Given the description of an element on the screen output the (x, y) to click on. 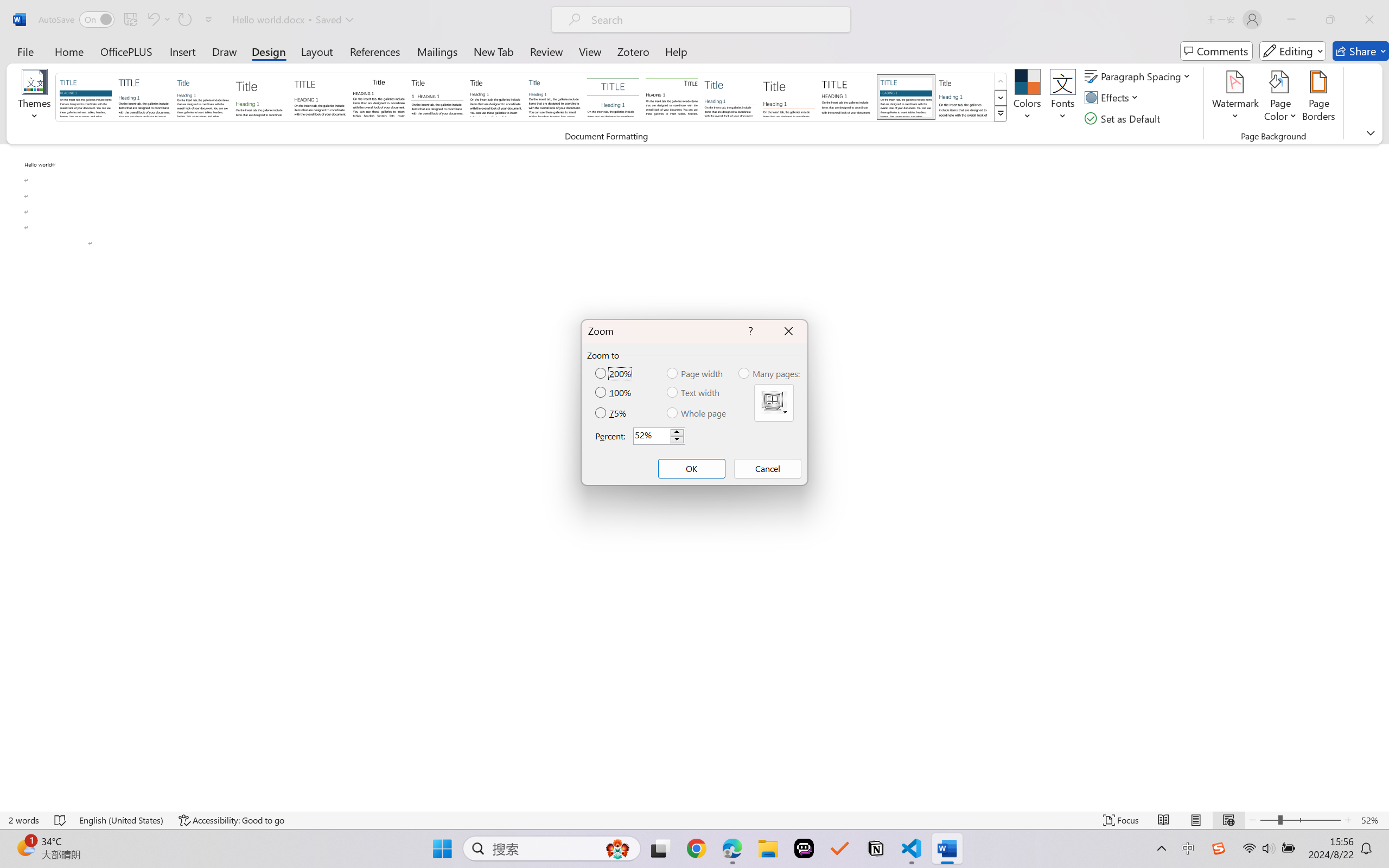
Black & White (Word 2013) (495, 96)
Customize Quick Access Toolbar (208, 19)
Minimalist (847, 96)
Whole page (696, 412)
Cancel (767, 468)
Paragraph Spacing (1139, 75)
Zoom (1300, 819)
Can't Repeat (184, 19)
Row up (1000, 81)
Many pages: (769, 373)
Editing (1292, 50)
Language English (United States) (121, 819)
Poe (804, 848)
References (375, 51)
Microsoft search (715, 19)
